Given the description of an element on the screen output the (x, y) to click on. 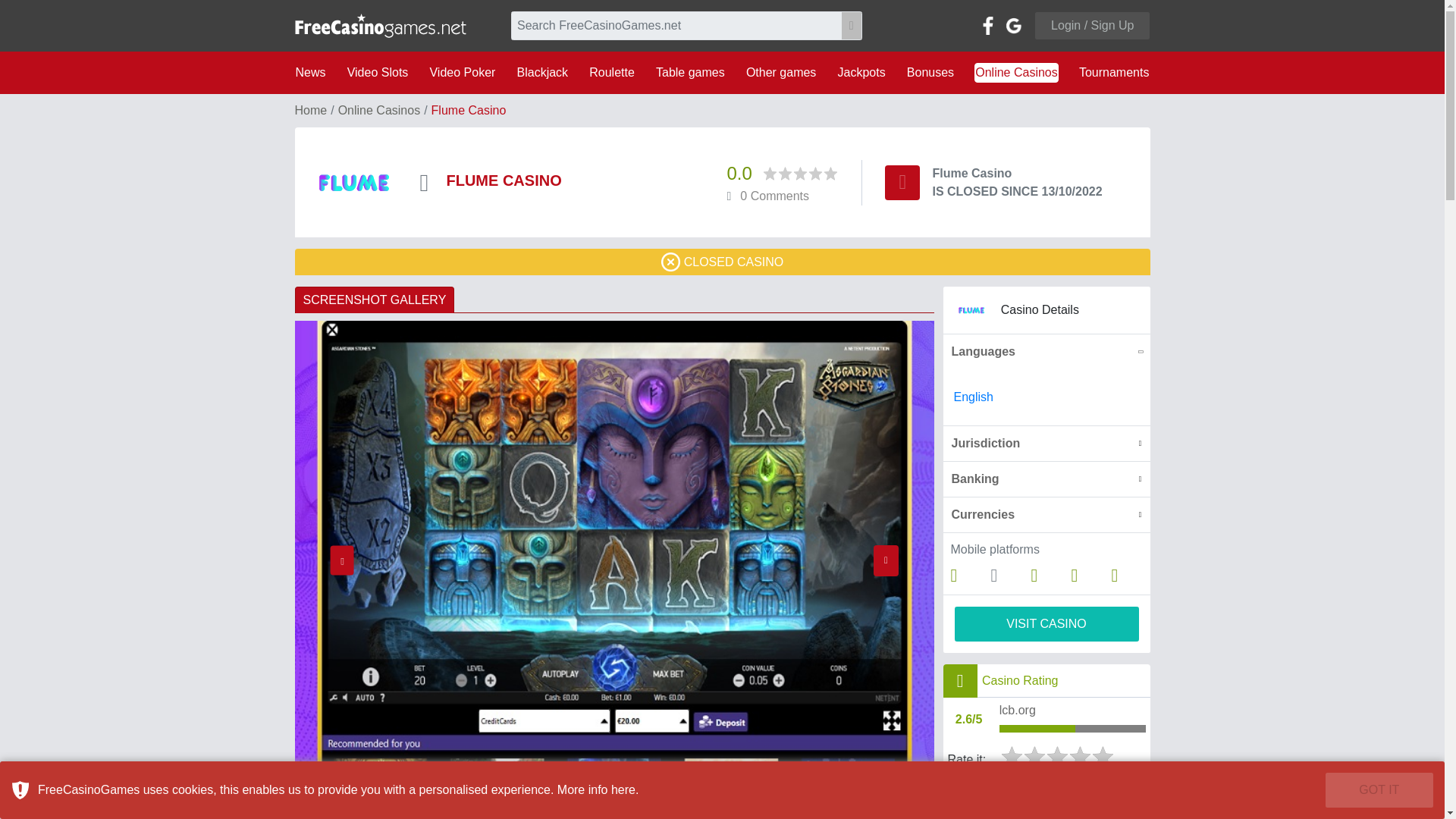
 Comments (774, 195)
Online Casinos (1016, 72)
Roulette (611, 72)
Home (310, 110)
Tournaments (1114, 72)
Jackpots (861, 72)
Video Poker (462, 72)
Video Slots (377, 72)
Table games (690, 72)
Other games (780, 72)
